Given the description of an element on the screen output the (x, y) to click on. 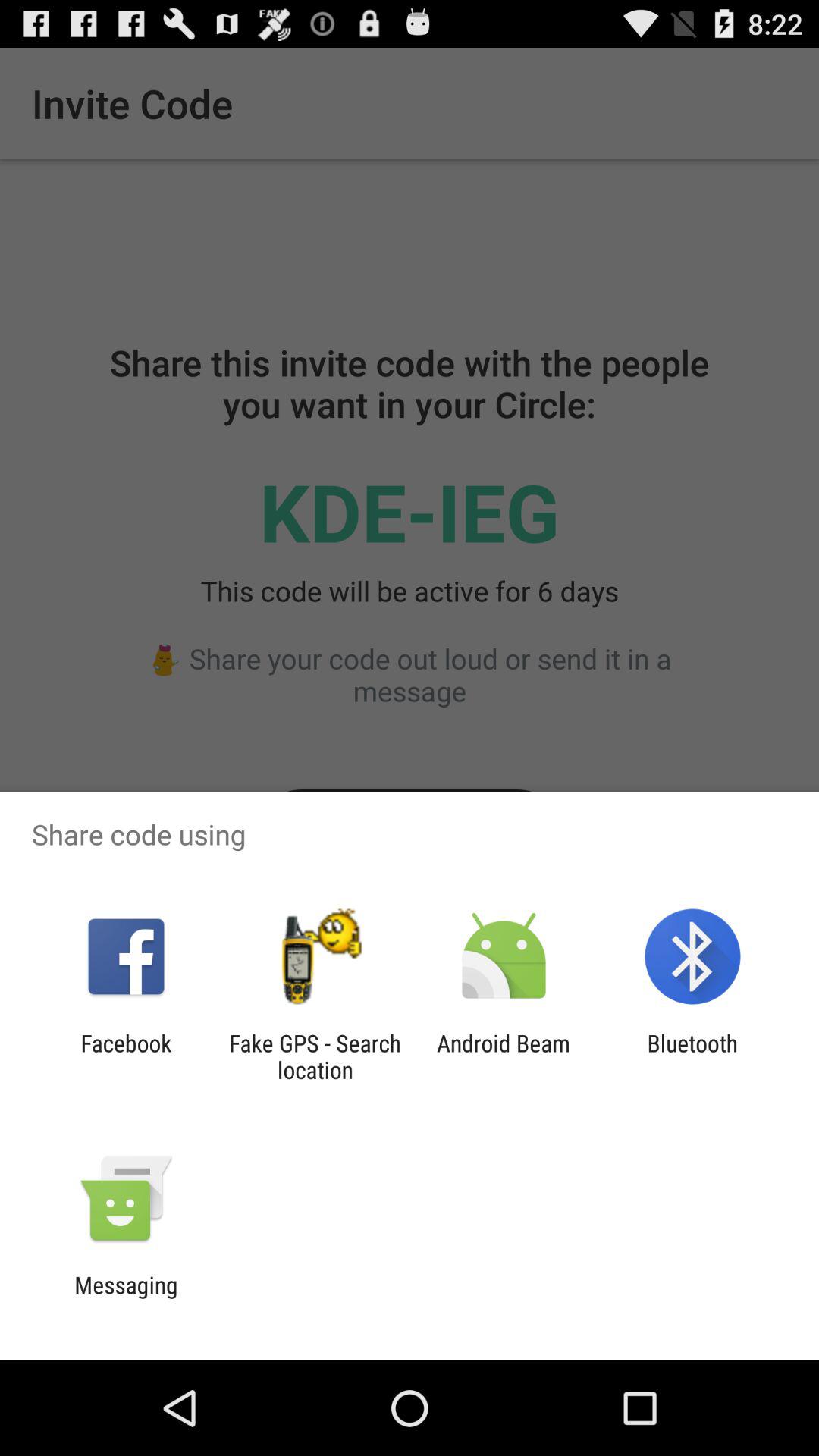
select the fake gps search icon (314, 1056)
